Given the description of an element on the screen output the (x, y) to click on. 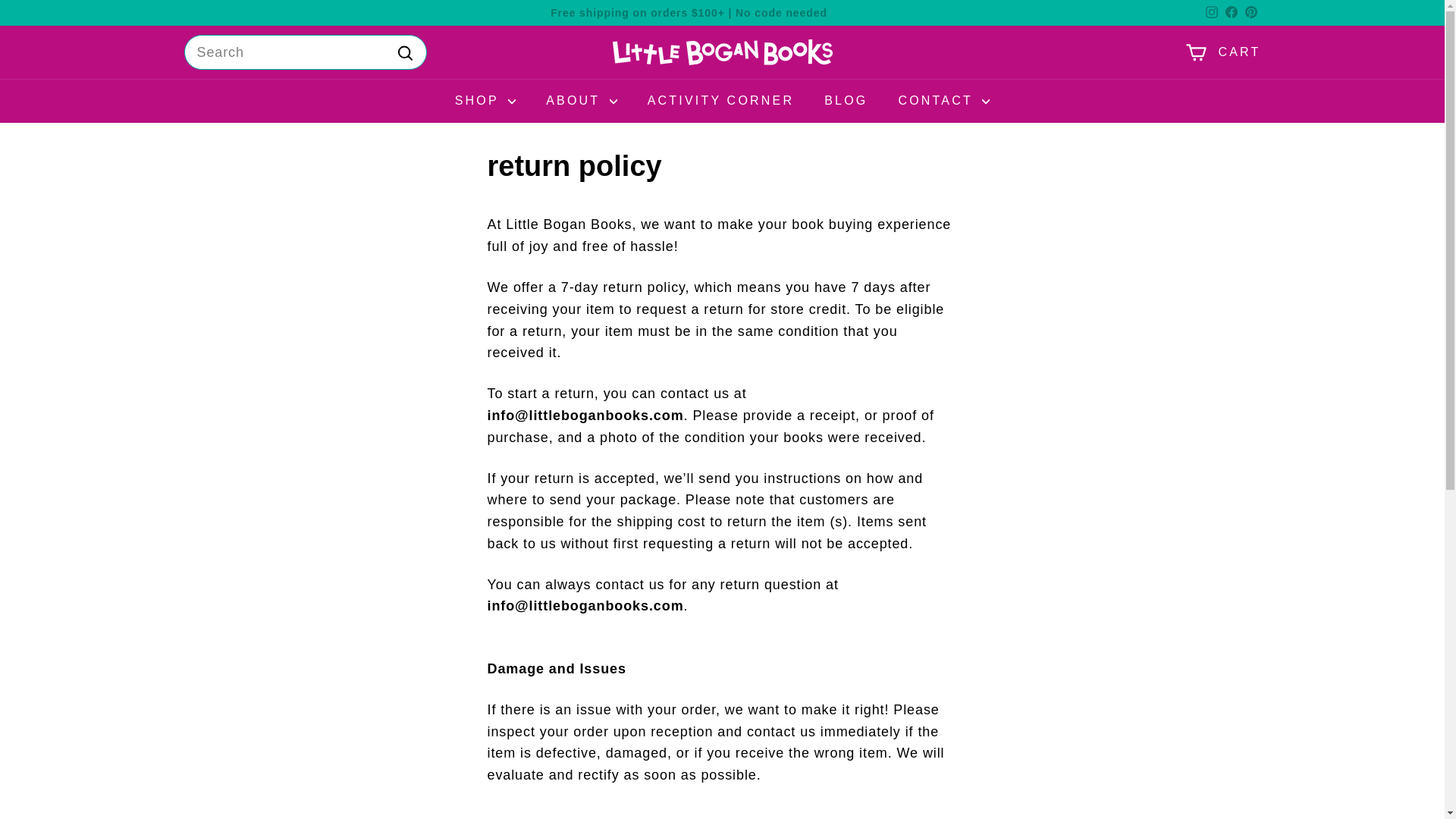
ACTIVITY CORNER (720, 100)
instagram (1211, 11)
CART (1222, 51)
BLOG (845, 100)
